Given the description of an element on the screen output the (x, y) to click on. 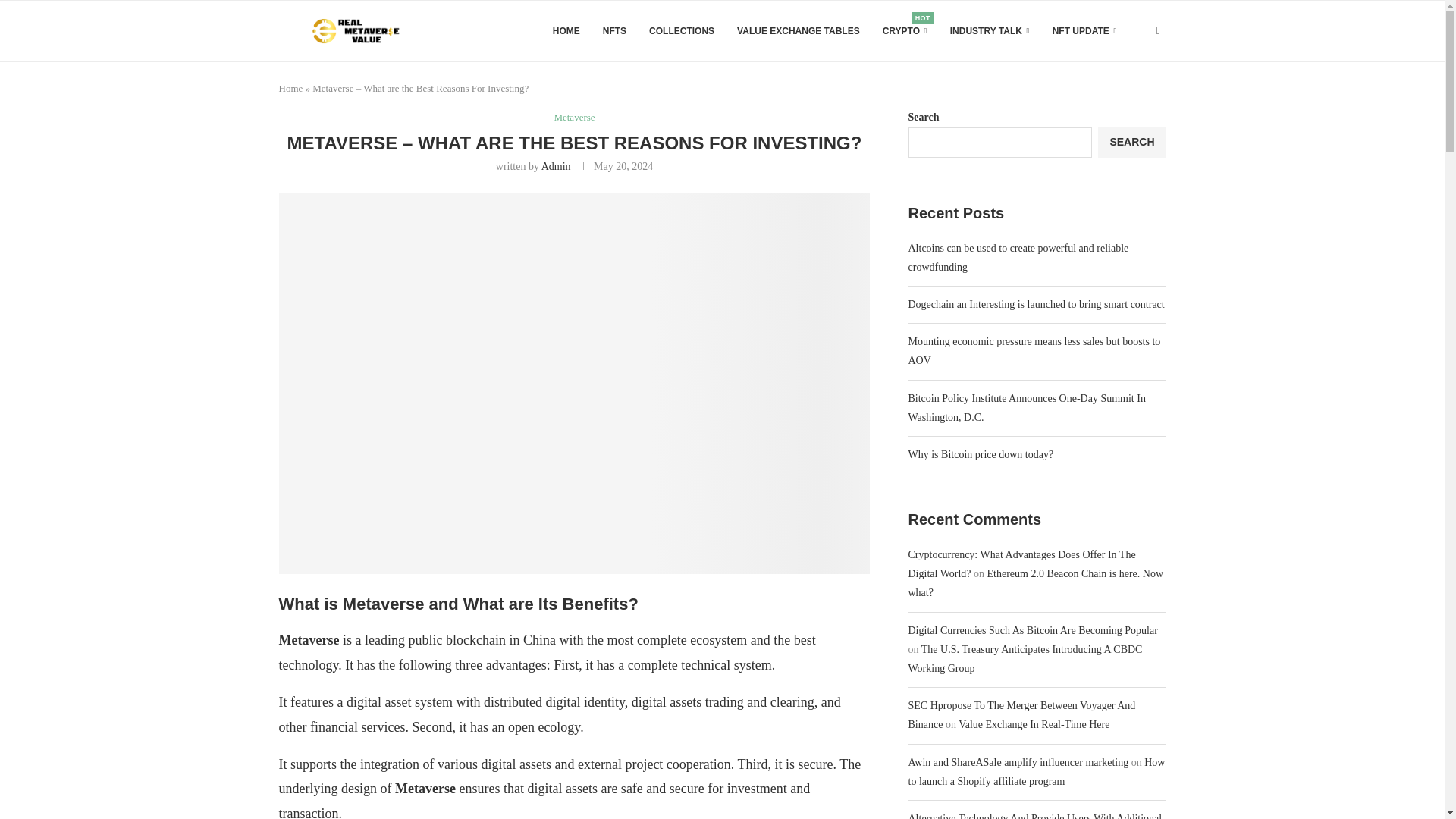
NFT UPDATE (1084, 30)
COLLECTIONS (681, 30)
VALUE EXCHANGE TABLES (798, 30)
Admin (555, 165)
SEARCH (1131, 142)
Metaverse (573, 117)
Home (290, 88)
INDUSTRY TALK (989, 30)
